Given the description of an element on the screen output the (x, y) to click on. 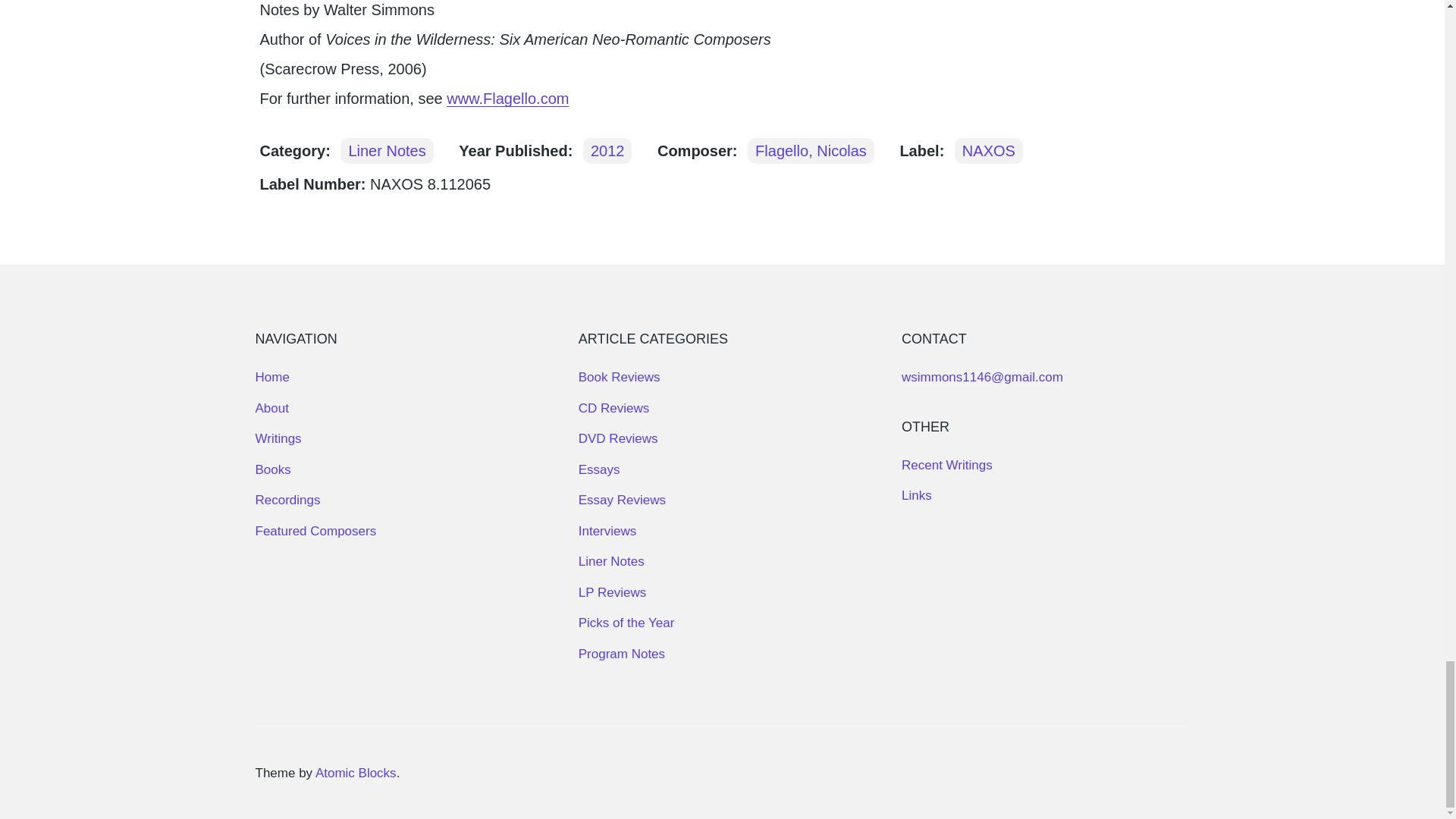
Writings (277, 438)
Home (271, 377)
www.Flagello.com (507, 98)
Recordings (287, 499)
NAXOS (989, 150)
Liner Notes (386, 150)
Picks of the Year (626, 622)
Essay Reviews (621, 499)
2012 (607, 150)
Flagello, Nicolas (811, 150)
Featured Composers (314, 531)
Liner Notes (611, 561)
DVD Reviews (618, 438)
CD Reviews (613, 408)
Essays (599, 469)
